Given the description of an element on the screen output the (x, y) to click on. 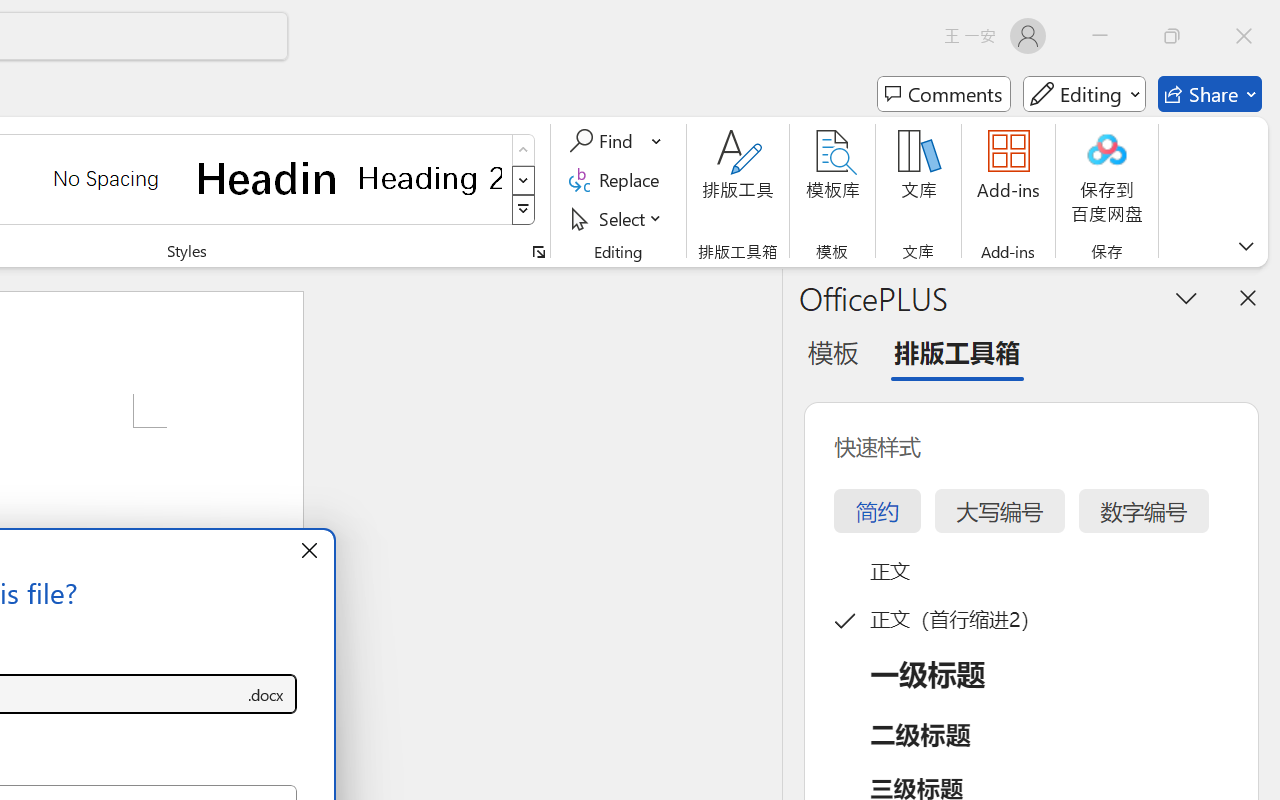
Save as type (265, 694)
